Given the description of an element on the screen output the (x, y) to click on. 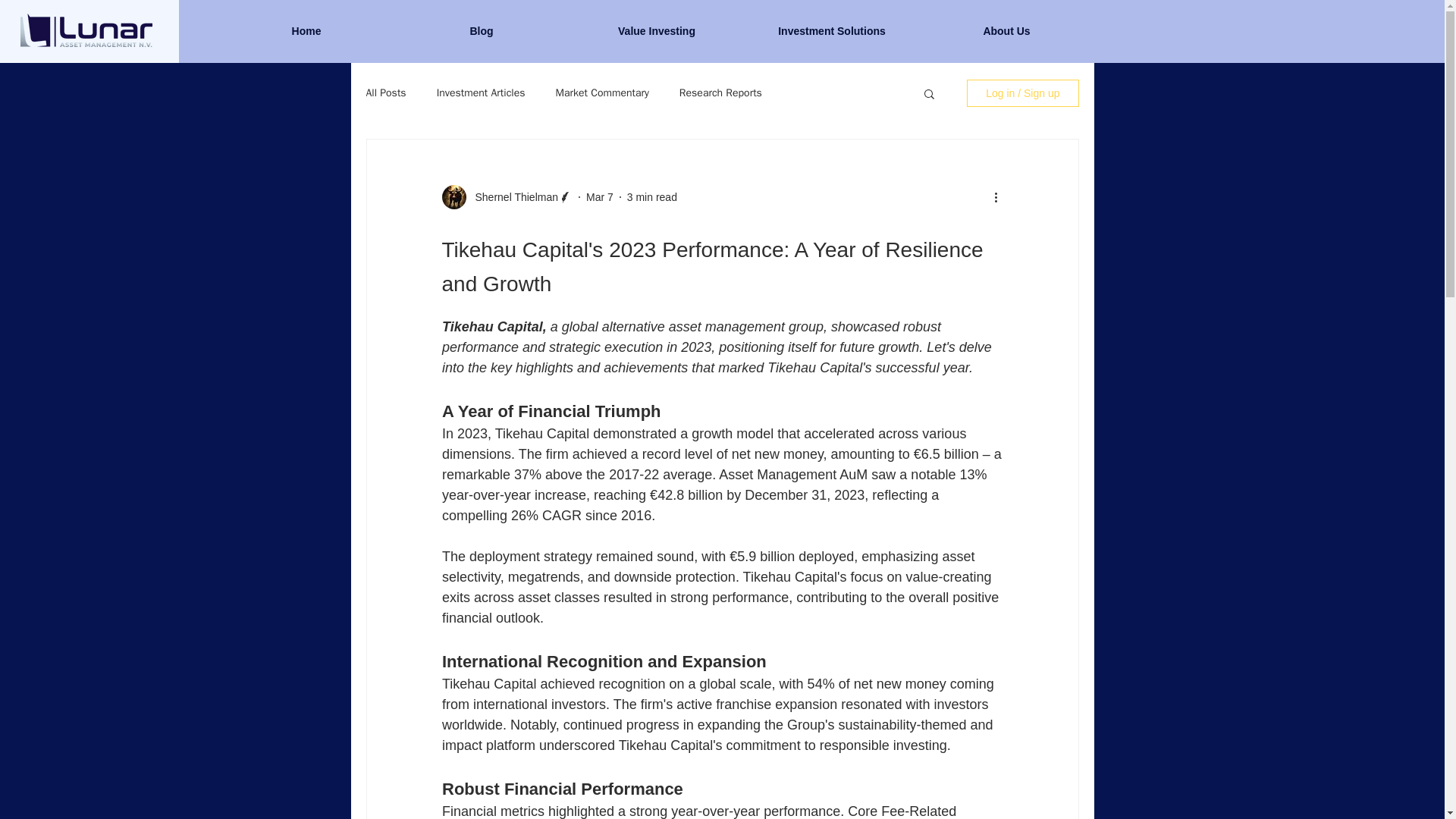
Blog (481, 31)
Market Commentary (602, 92)
Value Investing (656, 31)
Home (305, 31)
Research Reports (720, 92)
Investment Articles (480, 92)
Shernel Thielman (511, 197)
3 min read (652, 196)
Mar 7 (599, 196)
About Us (1005, 31)
All Posts (385, 92)
Investment Solutions (832, 31)
